Given the description of an element on the screen output the (x, y) to click on. 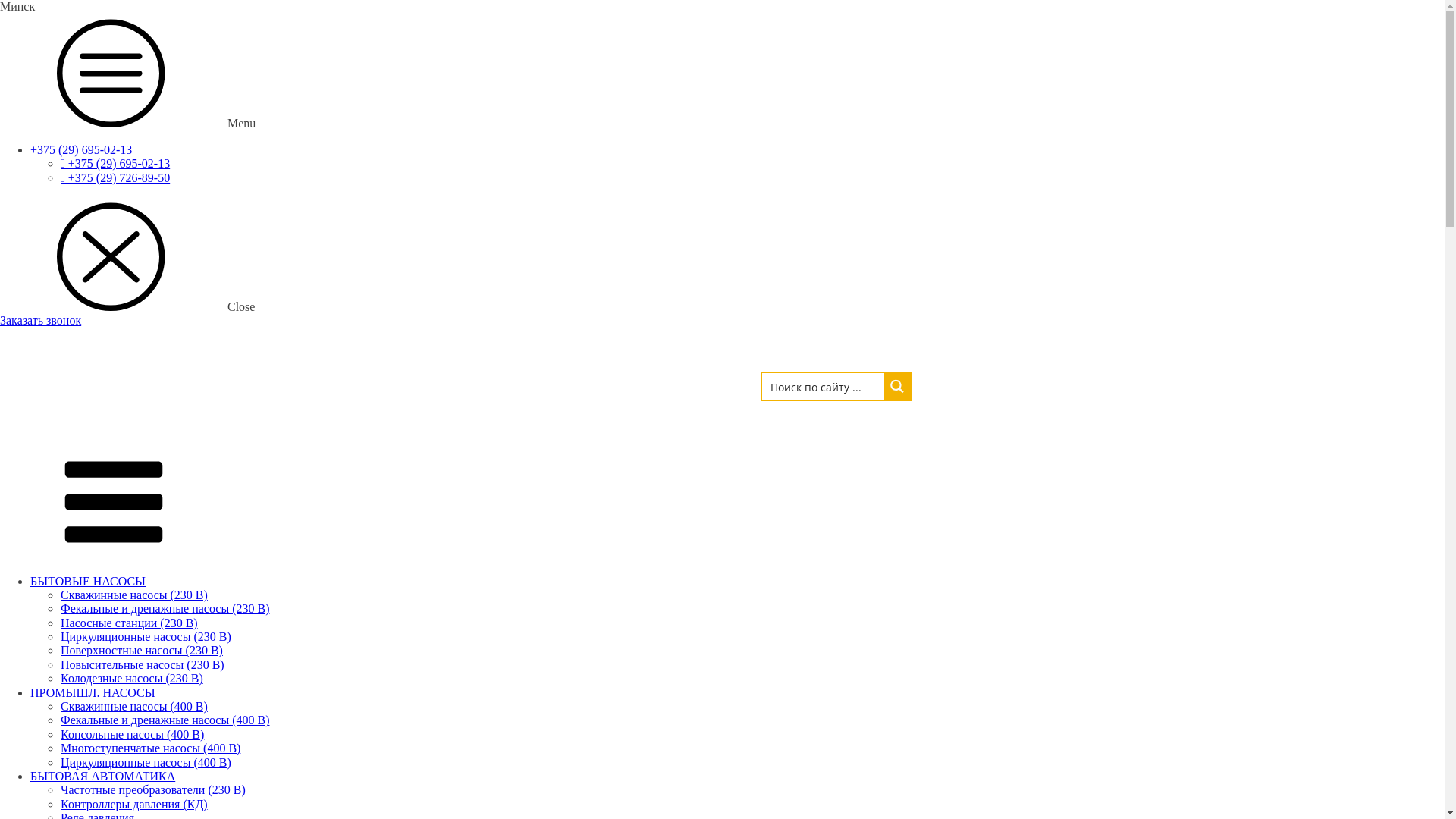
+375 (29) 695-02-13 Element type: text (80, 149)
